Given the description of an element on the screen output the (x, y) to click on. 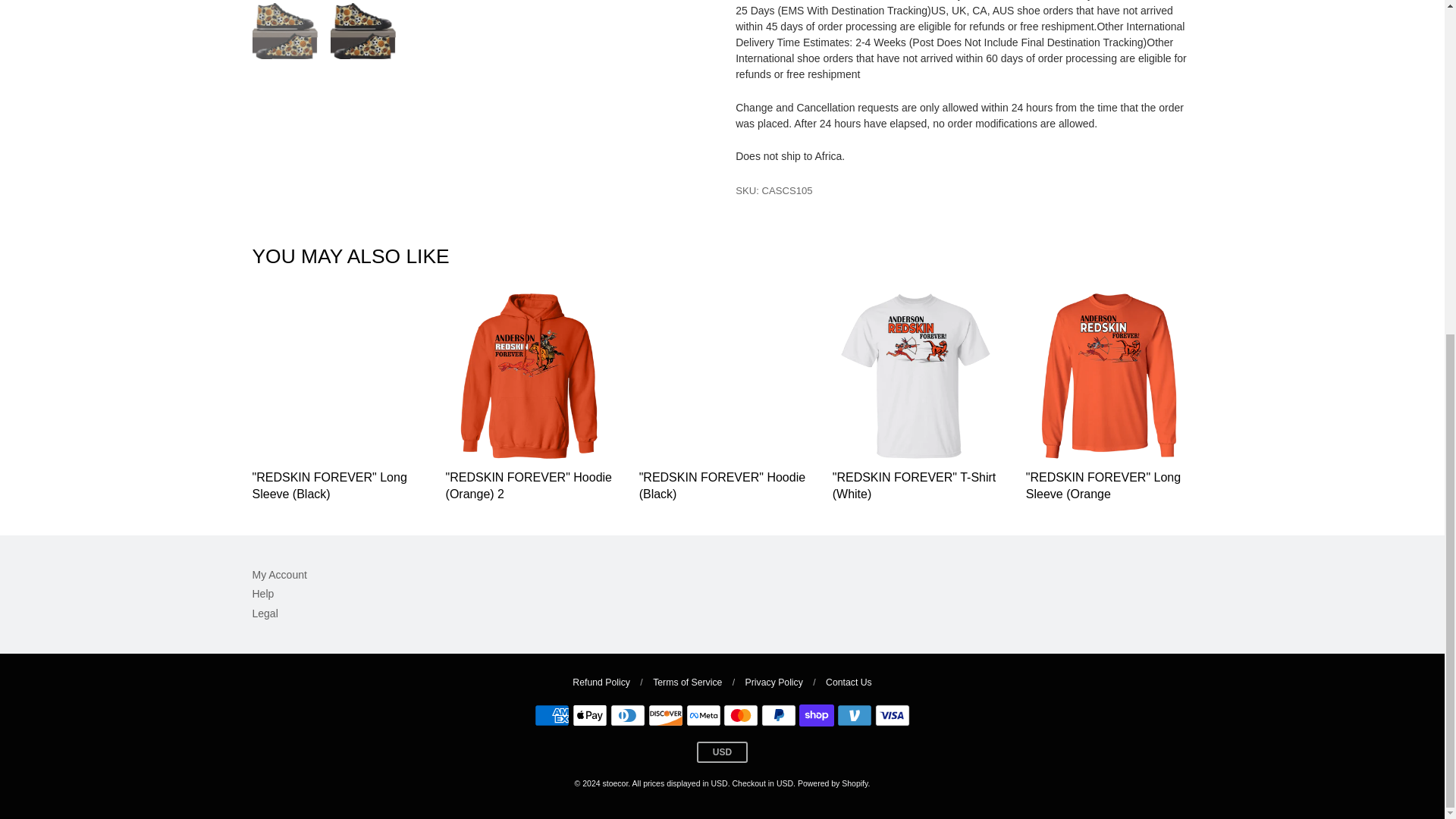
Visa (892, 714)
Mastercard (740, 714)
Sports Ball Patterns - Kids Hightop (479, 99)
Diners Club (627, 714)
Sports Ball Patterns - Kids Hightop (363, 243)
Apple Pay (589, 714)
Sports Ball Patterns - Kids Hightop (284, 243)
American Express (551, 714)
Venmo (854, 714)
Discover (664, 714)
